Given the description of an element on the screen output the (x, y) to click on. 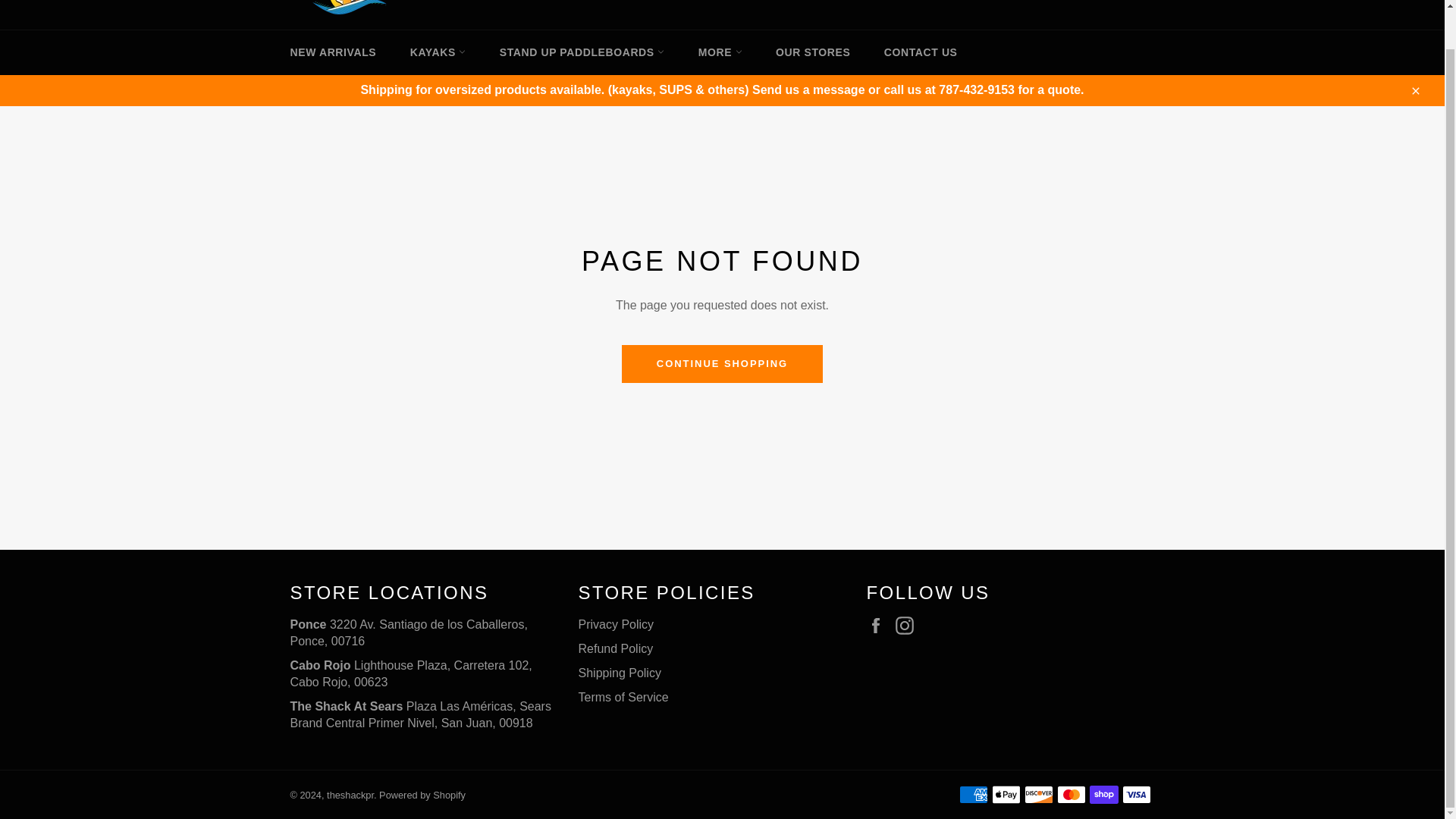
The Shack Cabo Rojo Google Maps Location (410, 673)
Sears Brand Central Google Maps  (419, 714)
theshackpr on Facebook (878, 625)
Search (1104, 4)
theshackpr on Instagram (908, 625)
The Shack Ponce Google Maps Location (408, 632)
